Given the description of an element on the screen output the (x, y) to click on. 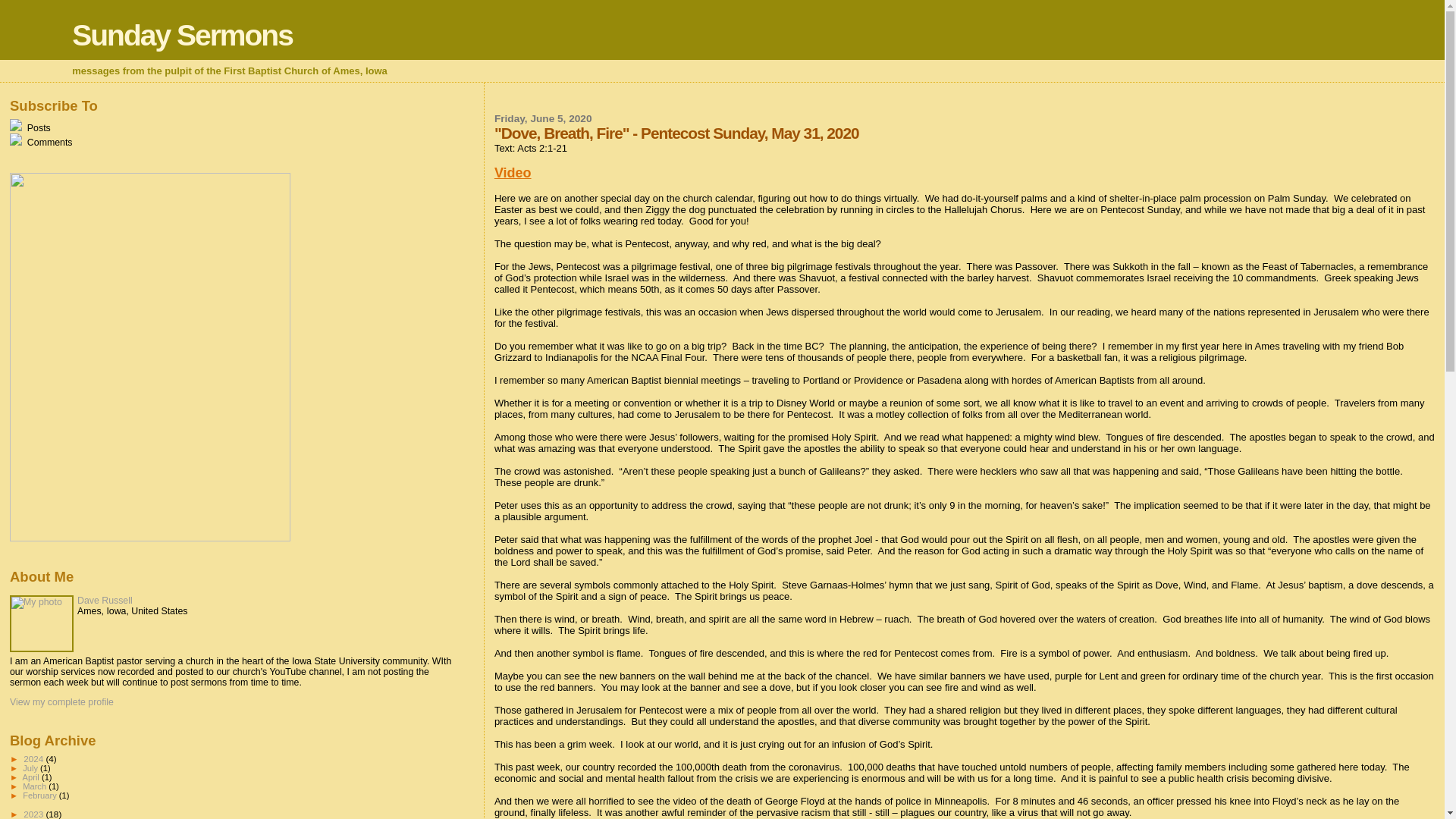
Sunday Sermons (181, 34)
Dave Russell (104, 600)
April (32, 777)
March (35, 786)
2024 (34, 758)
February (41, 795)
View my complete profile (61, 701)
July (31, 768)
Video (513, 172)
